Given the description of an element on the screen output the (x, y) to click on. 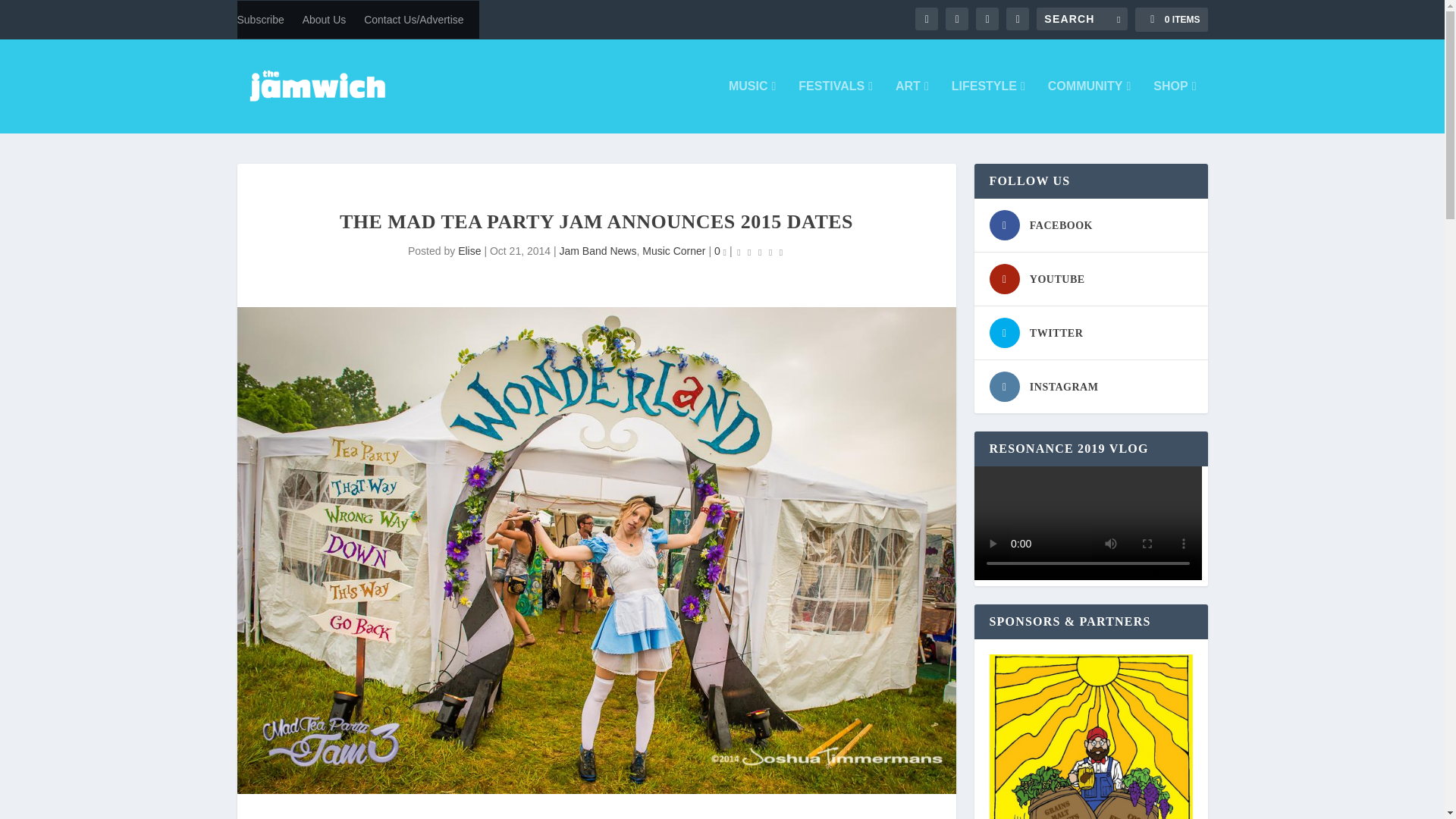
0 Items in Cart (1171, 19)
LIFESTYLE (988, 106)
Subscribe (259, 19)
0 ITEMS (1171, 19)
FESTIVALS (834, 106)
Jam Band News (598, 250)
About Us (324, 19)
Music Corner (673, 250)
Elise (469, 250)
COMMUNITY (1089, 106)
Search for: (1081, 18)
0 (720, 250)
Posts by Elise (469, 250)
Rating: 0.00 (759, 251)
